Given the description of an element on the screen output the (x, y) to click on. 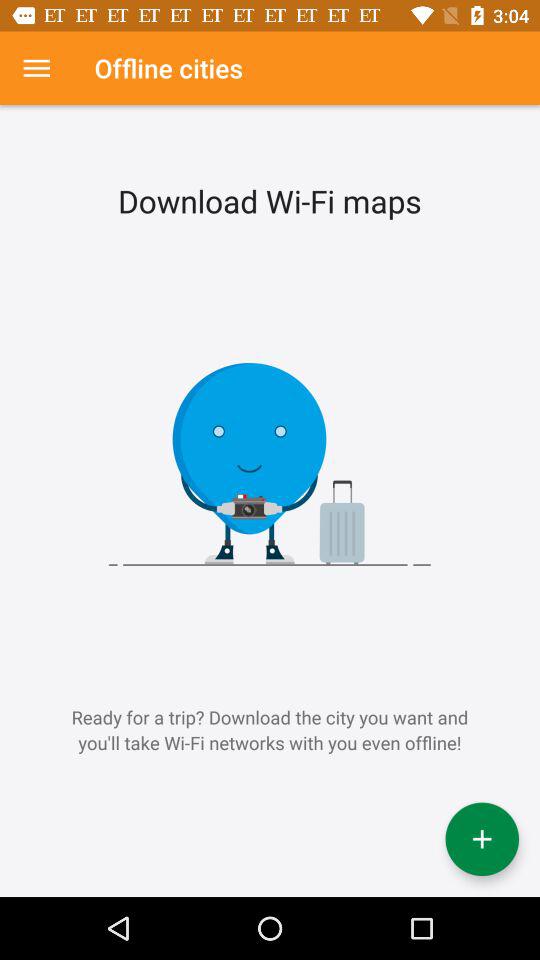
select item below the ready for a item (482, 839)
